Given the description of an element on the screen output the (x, y) to click on. 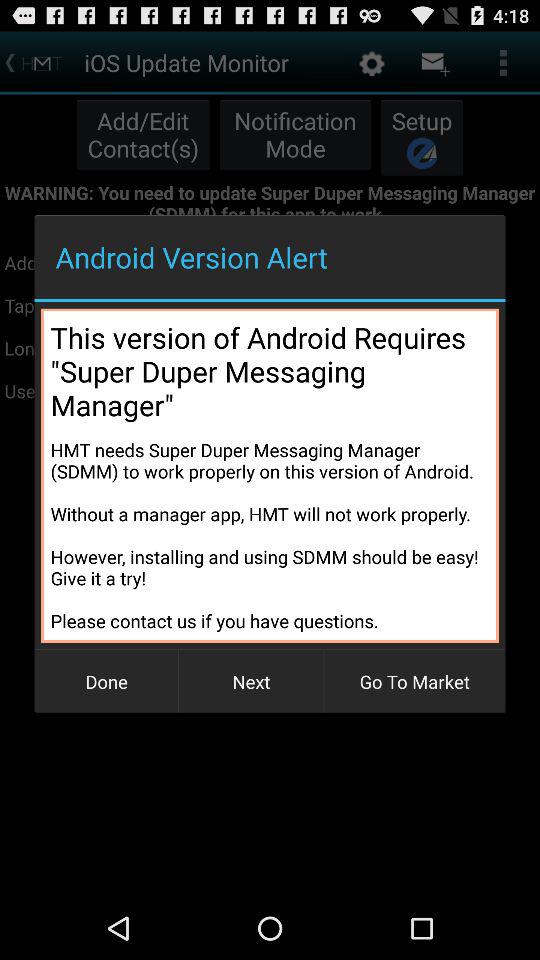
jump to the go to market (414, 681)
